Given the description of an element on the screen output the (x, y) to click on. 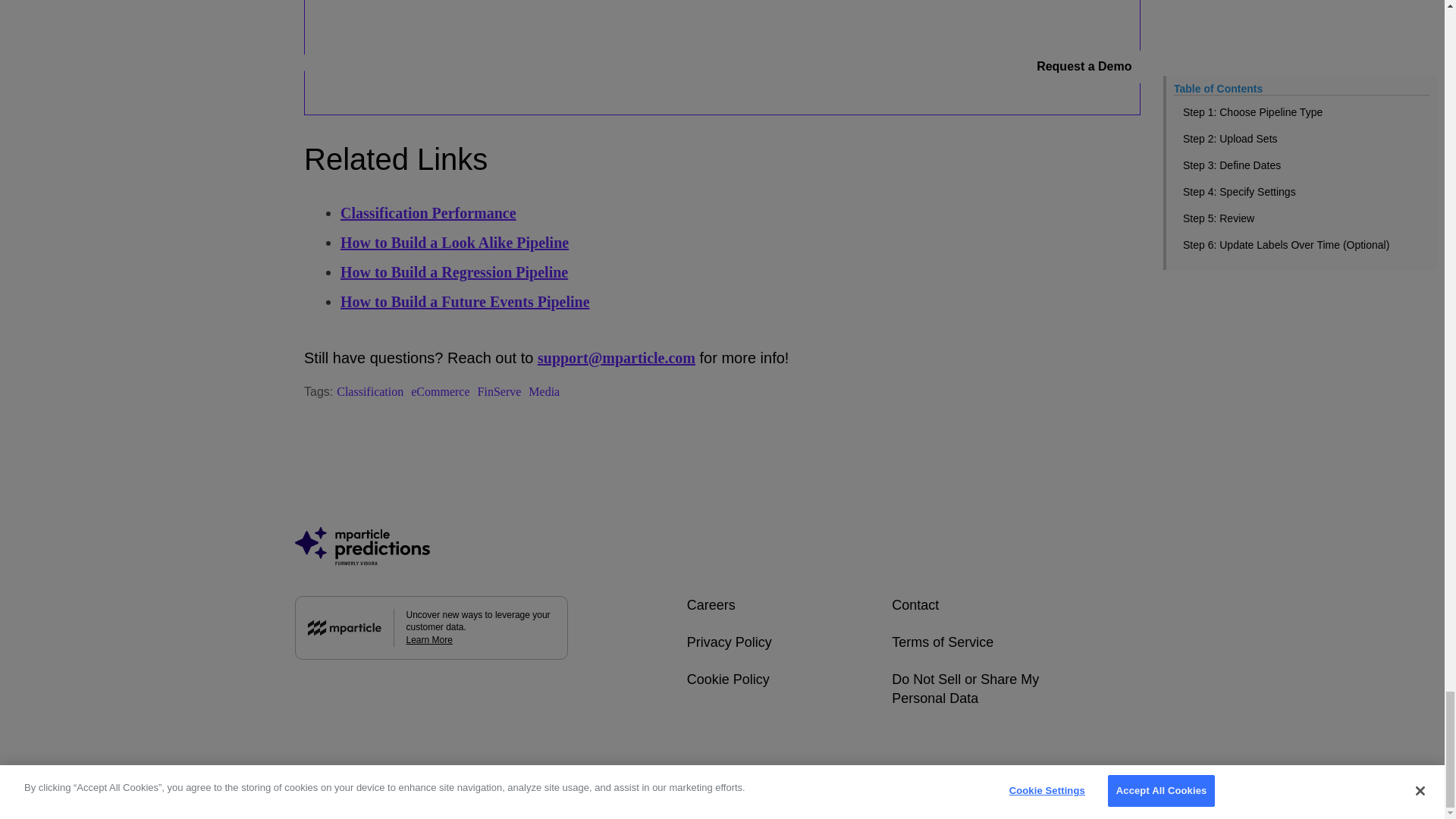
Careers (711, 604)
How to Build a Future Events Pipeline (464, 301)
Classification (369, 391)
How to Build a Regression Pipeline (453, 271)
Media (543, 391)
eCommerce (439, 391)
Contact (915, 604)
Classification Performance (428, 212)
FinServe (499, 391)
How to Build a Look Alike Pipeline (454, 242)
